Given the description of an element on the screen output the (x, y) to click on. 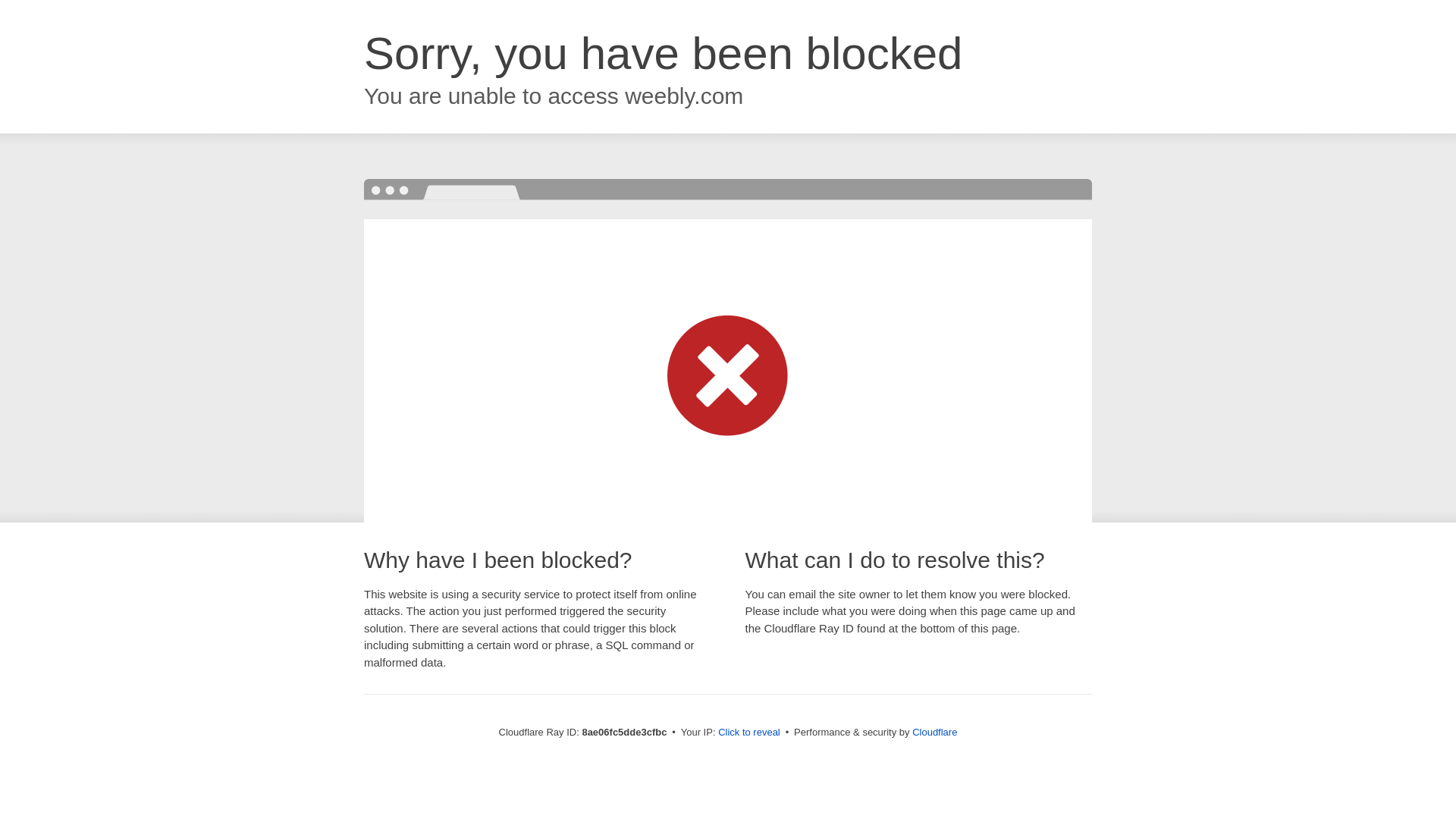
Cloudflare (934, 731)
Click to reveal (748, 732)
